Given the description of an element on the screen output the (x, y) to click on. 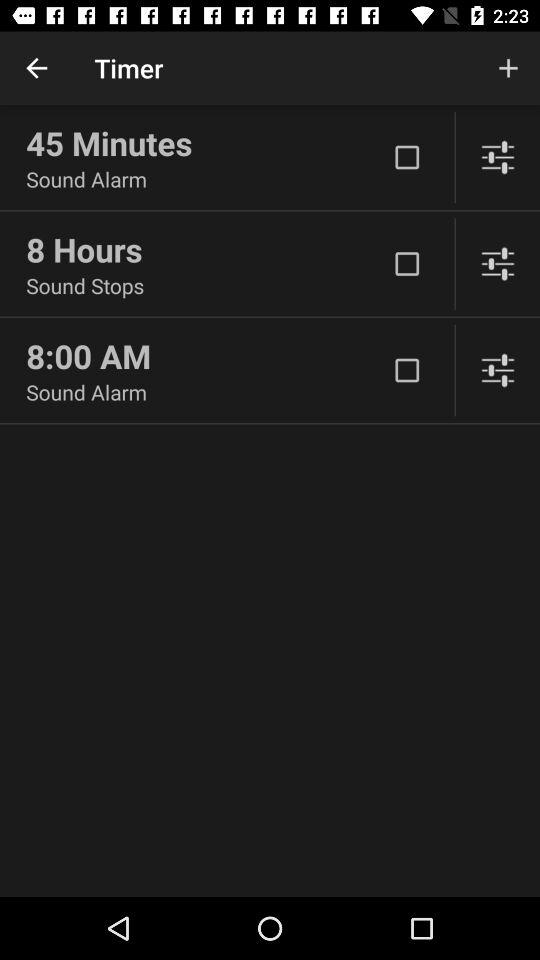
select the 8:00 am icon (206, 356)
